Given the description of an element on the screen output the (x, y) to click on. 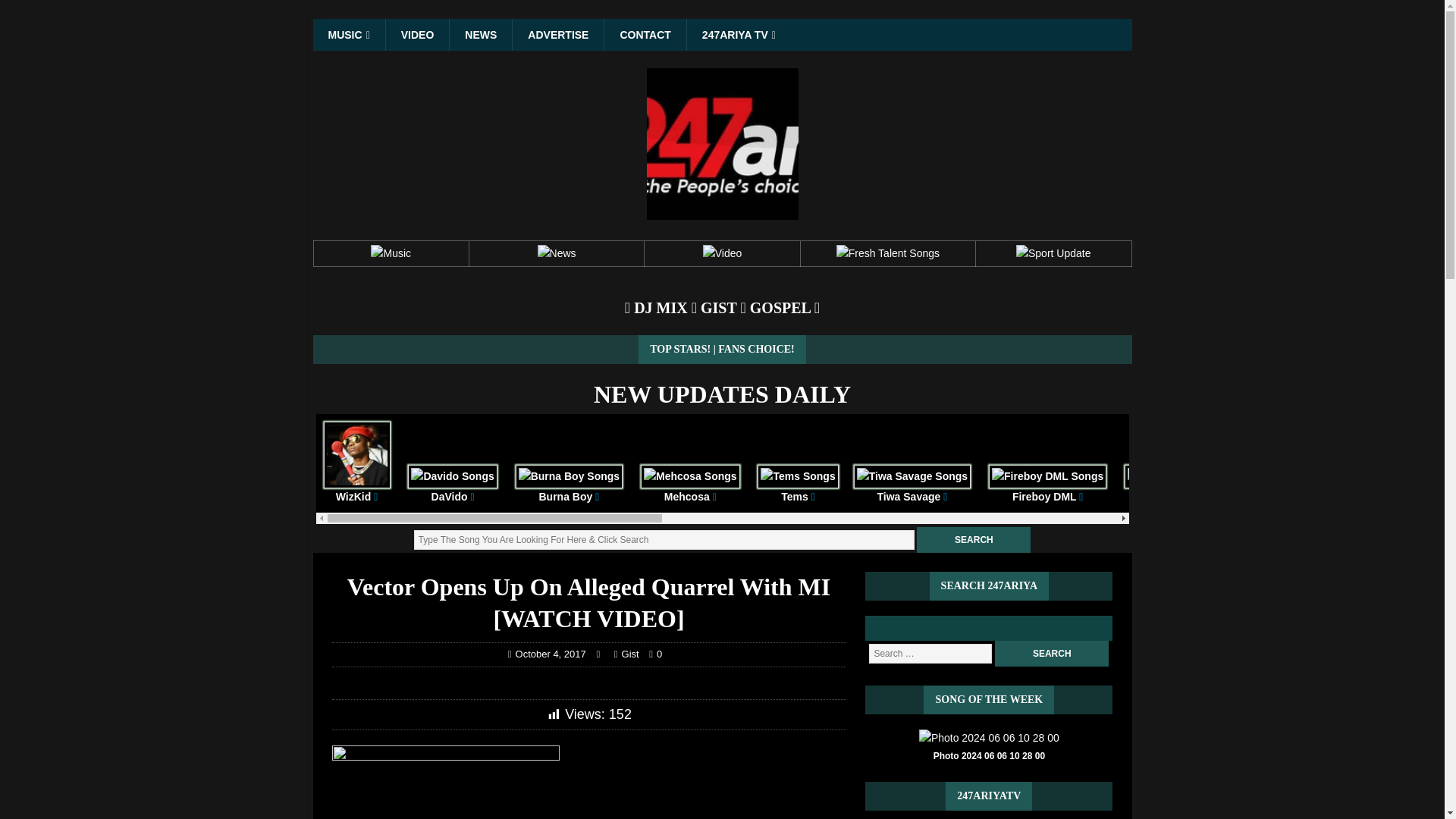
DaVido (451, 484)
Fireboy DML (1047, 484)
ADVERTISE (558, 34)
Burna Boy (569, 484)
GIST (718, 307)
Simi (1262, 484)
Mehcosa (690, 484)
VIDEO (417, 34)
GOSPEL (779, 307)
Tems (797, 484)
